Given the description of an element on the screen output the (x, y) to click on. 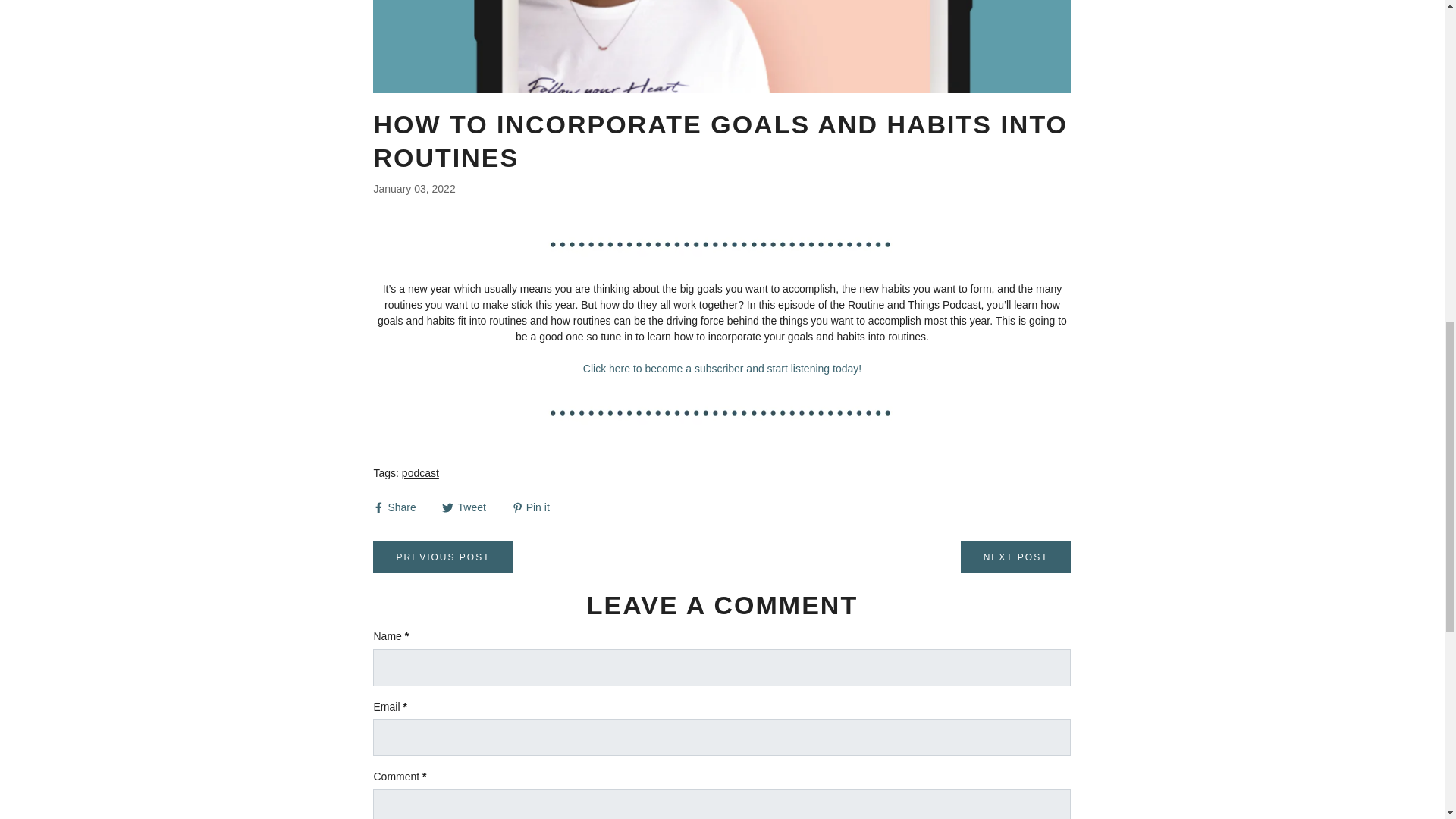
Pin it (531, 506)
Share (395, 506)
PREVIOUS POST (442, 557)
NEXT POST (1015, 557)
Click here to become a subscriber and start listening today! (722, 368)
podcast (420, 472)
Tweet (465, 506)
